Given the description of an element on the screen output the (x, y) to click on. 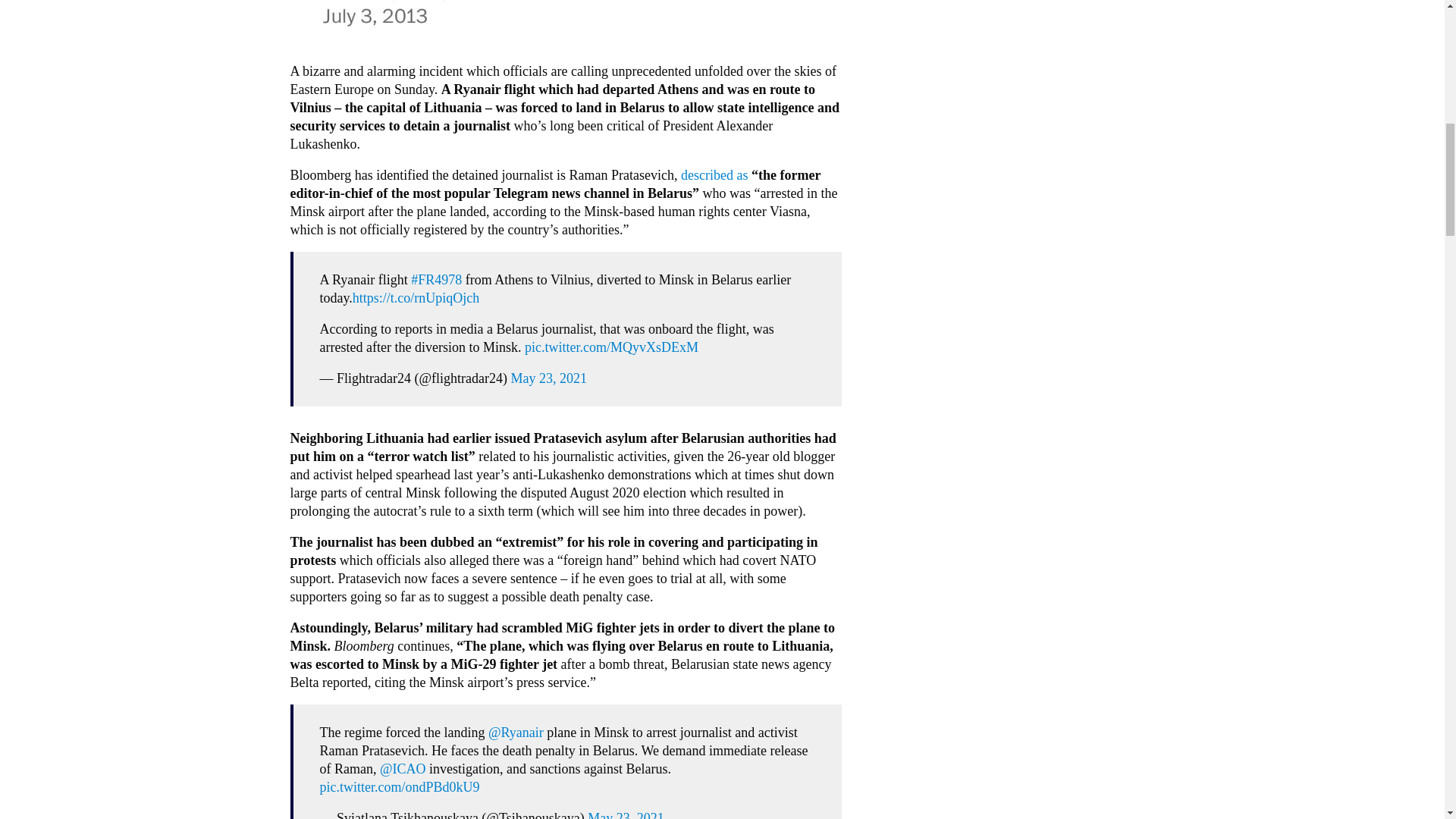
May 23, 2021 (549, 377)
described as (714, 174)
May 23, 2021 (625, 814)
